Given the description of an element on the screen output the (x, y) to click on. 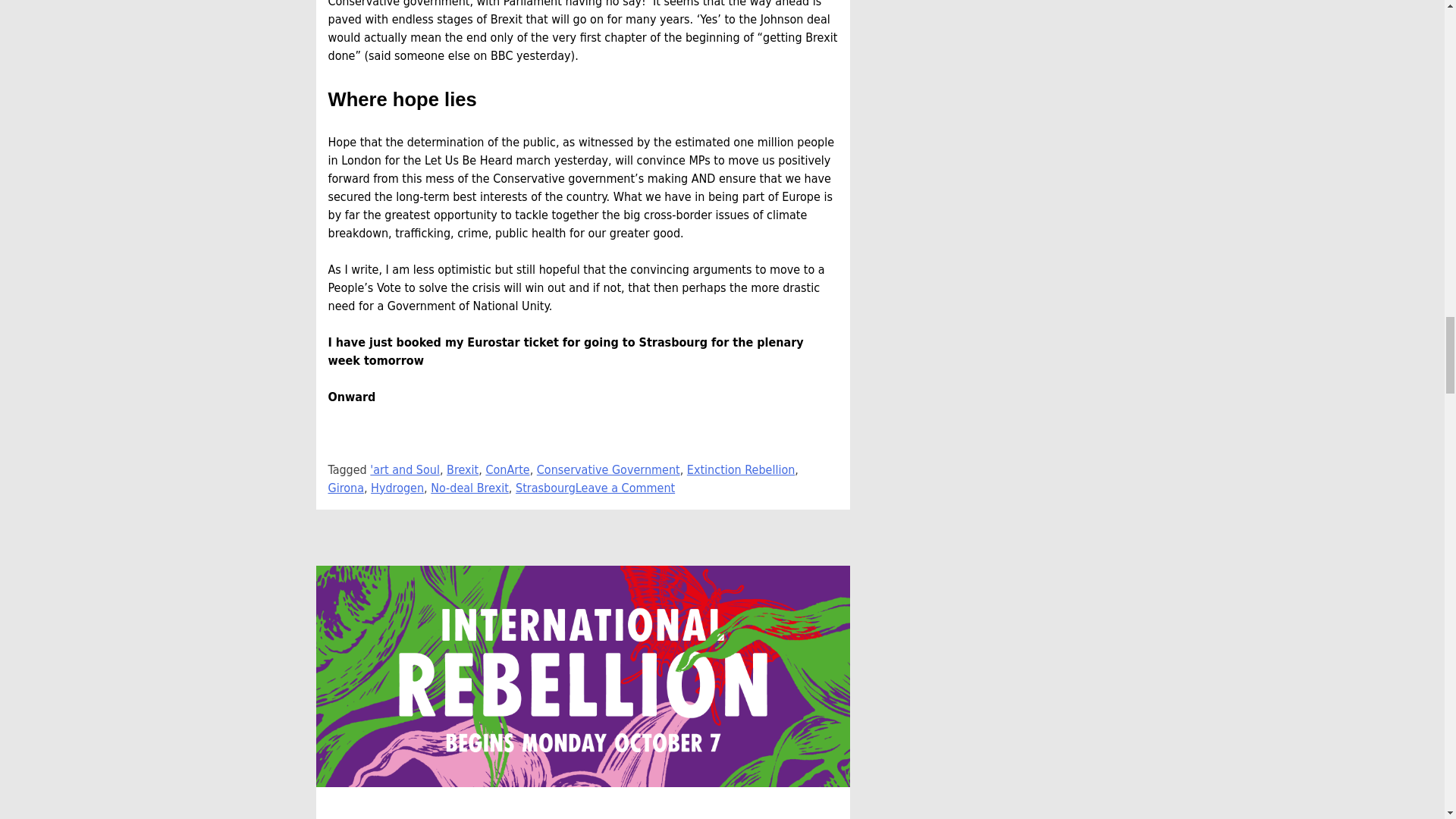
Extinction Rebellion (740, 469)
No-deal Brexit (469, 487)
Hydrogen (397, 487)
Brexit (462, 469)
ConArte (506, 469)
Girona (344, 487)
Conservative Government (608, 469)
Strasbourg (545, 487)
'art and Soul (404, 469)
